Given the description of an element on the screen output the (x, y) to click on. 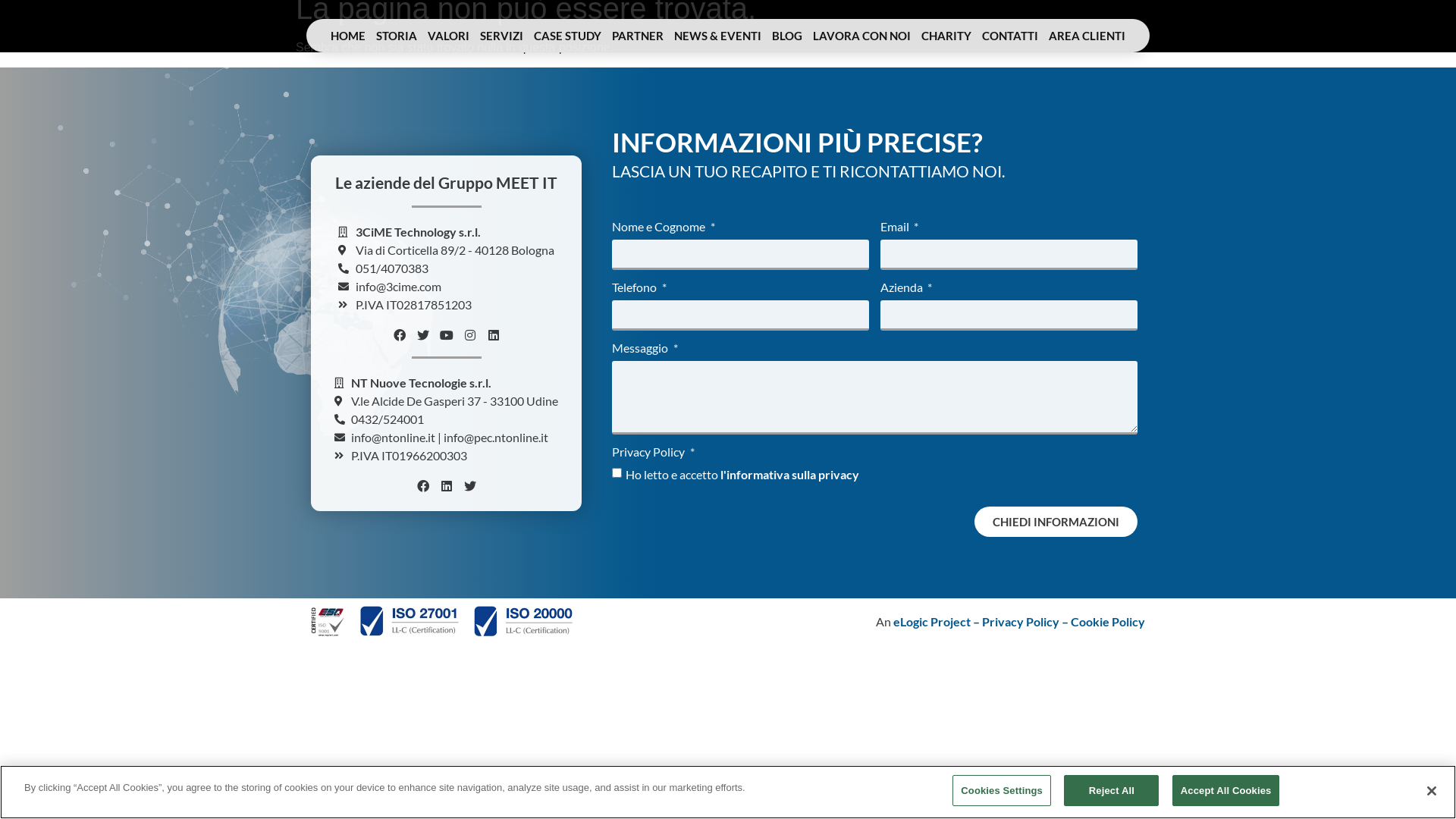
Cookies Settings Element type: text (1001, 790)
Privacy Policy Element type: text (1020, 621)
CHARITY Element type: text (946, 35)
Reject All Element type: text (1110, 790)
VALORI Element type: text (448, 35)
HOME Element type: text (347, 35)
STORIA Element type: text (396, 35)
Cookie Policy Element type: text (1107, 621)
AREA CLIENTI Element type: text (1086, 35)
LAVORA CON NOI Element type: text (861, 35)
SERVIZI Element type: text (501, 35)
CONTATTI Element type: text (1009, 35)
CASE STUDY Element type: text (567, 35)
Accept All Cookies Element type: text (1226, 790)
CHIEDI INFORMAZIONI Element type: text (1055, 521)
PARTNER Element type: text (637, 35)
l'informativa sulla privacy Element type: text (789, 474)
BLOG Element type: text (786, 35)
NEWS & EVENTI Element type: text (717, 35)
